Given the description of an element on the screen output the (x, y) to click on. 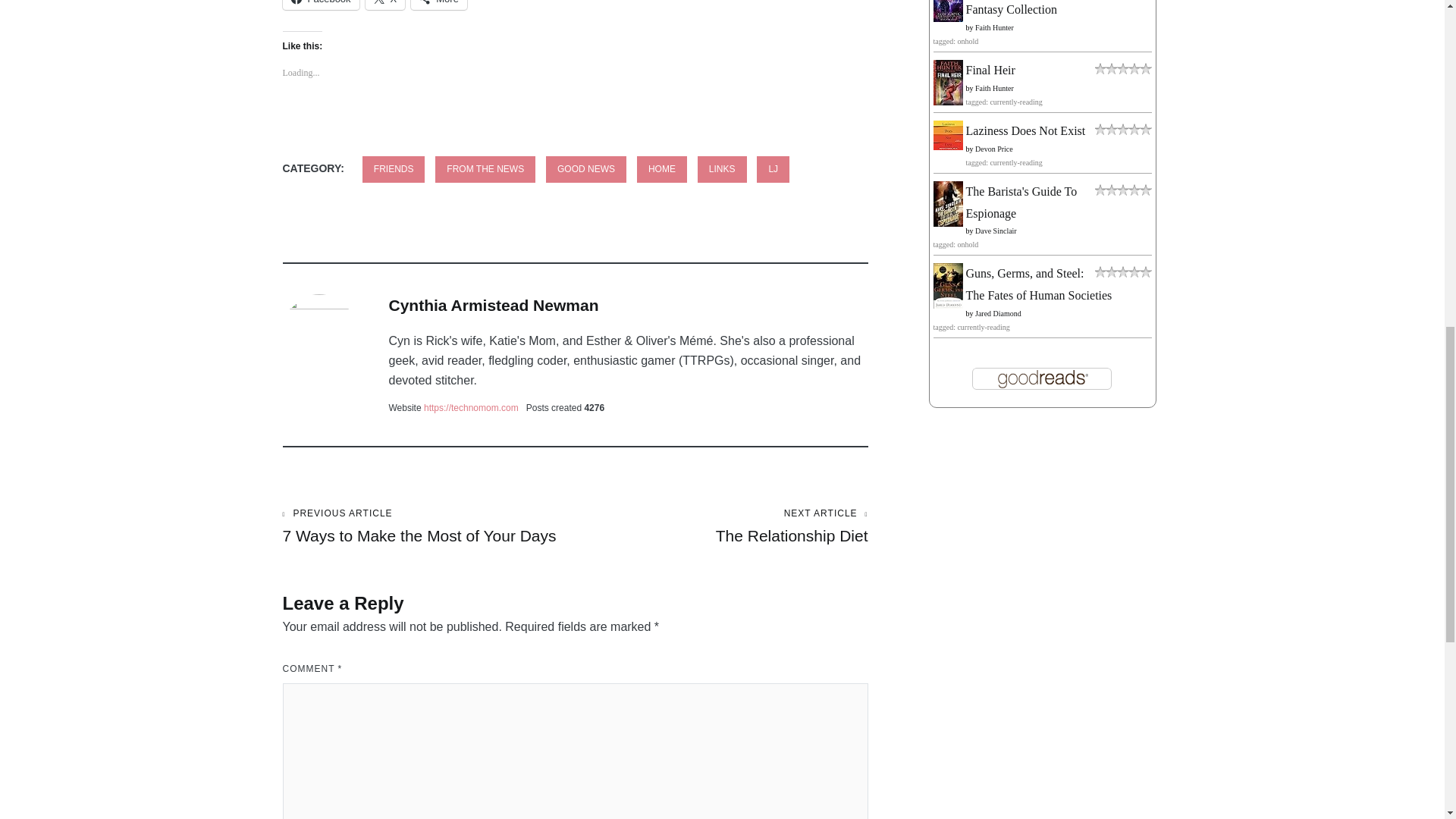
Click to share on Facebook (320, 4)
Dirty Deeds 2: An Urban Fantasy Collection (947, 17)
Facebook (320, 4)
More (438, 4)
Click to share on X (385, 4)
Posts by Cynthia Armistead Newman (493, 304)
X (385, 4)
